Given the description of an element on the screen output the (x, y) to click on. 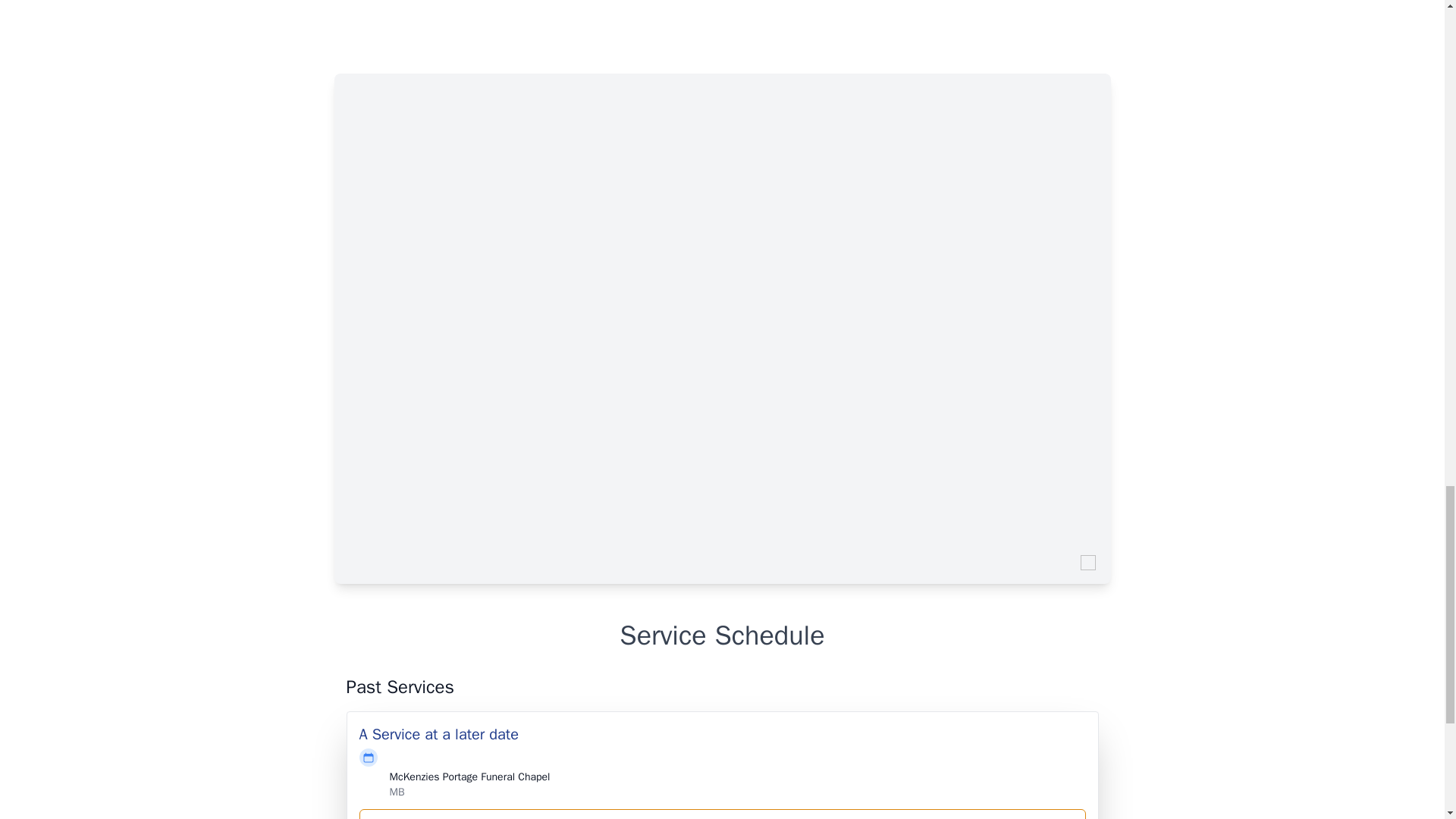
MB (397, 791)
Send Flowers (722, 814)
